Given the description of an element on the screen output the (x, y) to click on. 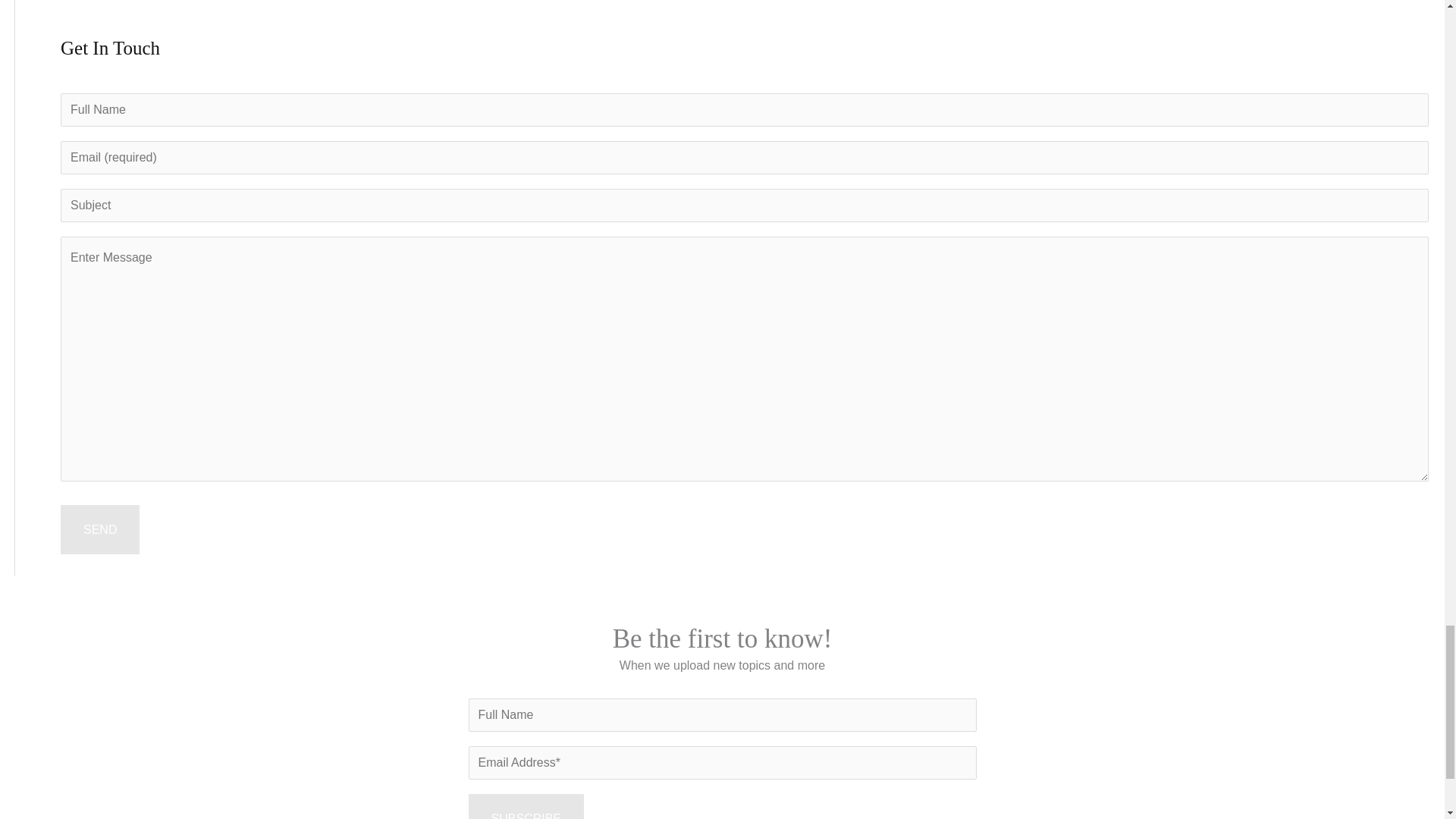
SUBSCRIBE (525, 806)
SEND (100, 530)
SEND (100, 530)
SUBSCRIBE (525, 806)
